Given the description of an element on the screen output the (x, y) to click on. 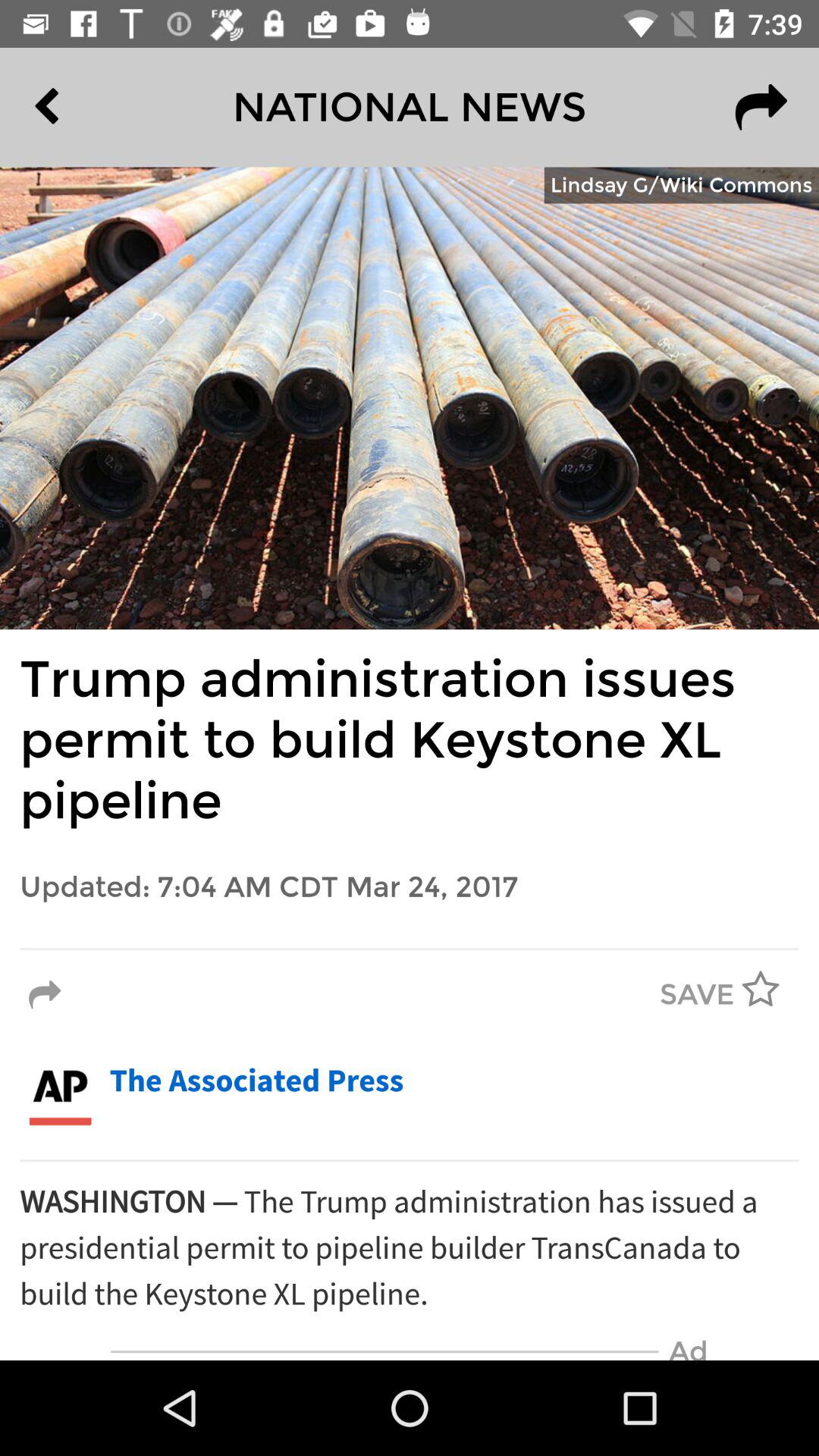
jump until the associated press item (256, 1081)
